Given the description of an element on the screen output the (x, y) to click on. 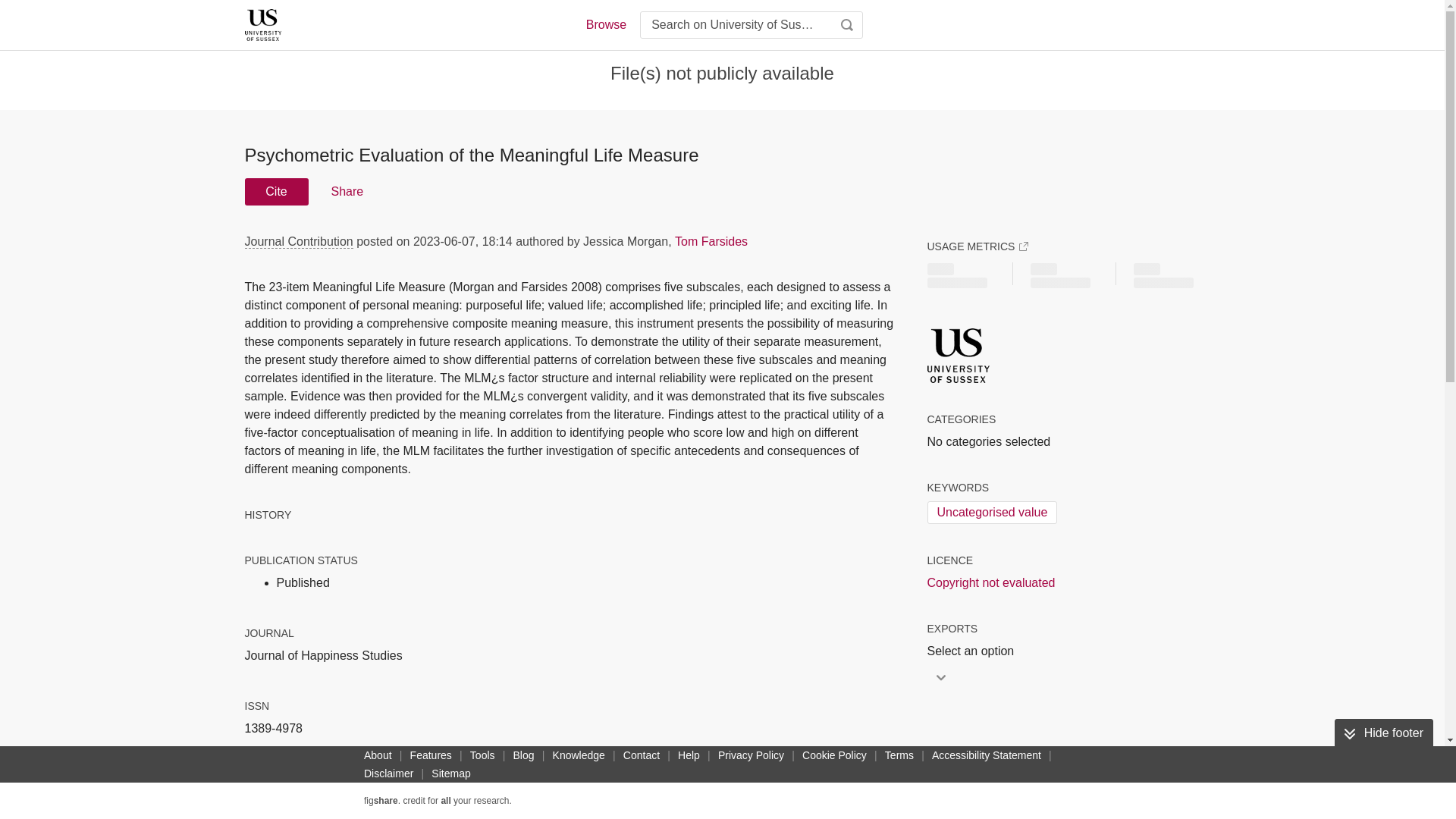
Copyright not evaluated (990, 583)
Cite (275, 191)
Accessibility Statement (986, 755)
Help (688, 755)
Sitemap (450, 773)
Disclaimer (388, 773)
USAGE METRICS (976, 246)
Privacy Policy (751, 755)
Browse (605, 24)
Blog (523, 755)
